Given the description of an element on the screen output the (x, y) to click on. 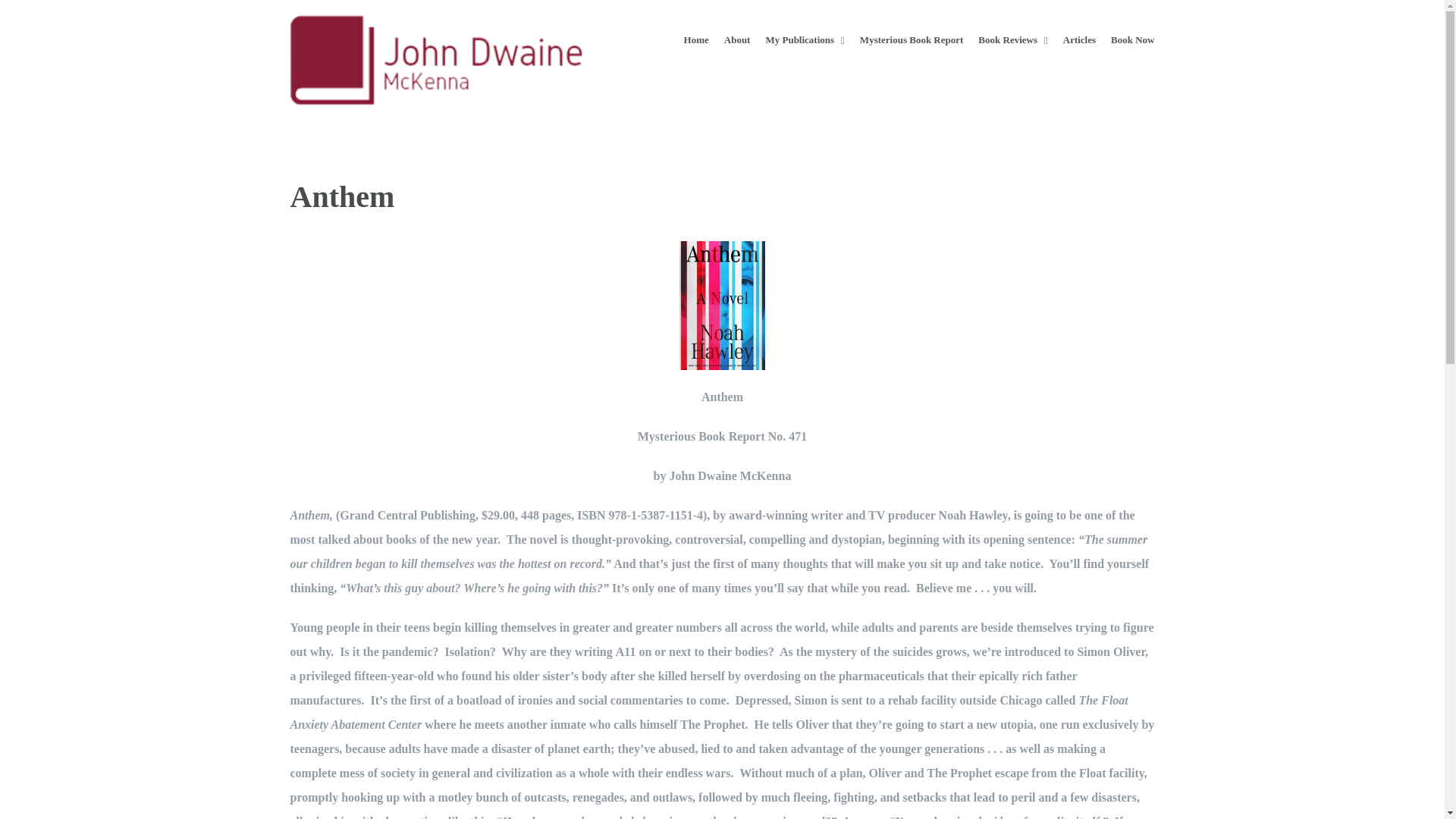
Mysterious Book Report (911, 40)
My Publications (804, 40)
Book Reviews (1012, 40)
